Given the description of an element on the screen output the (x, y) to click on. 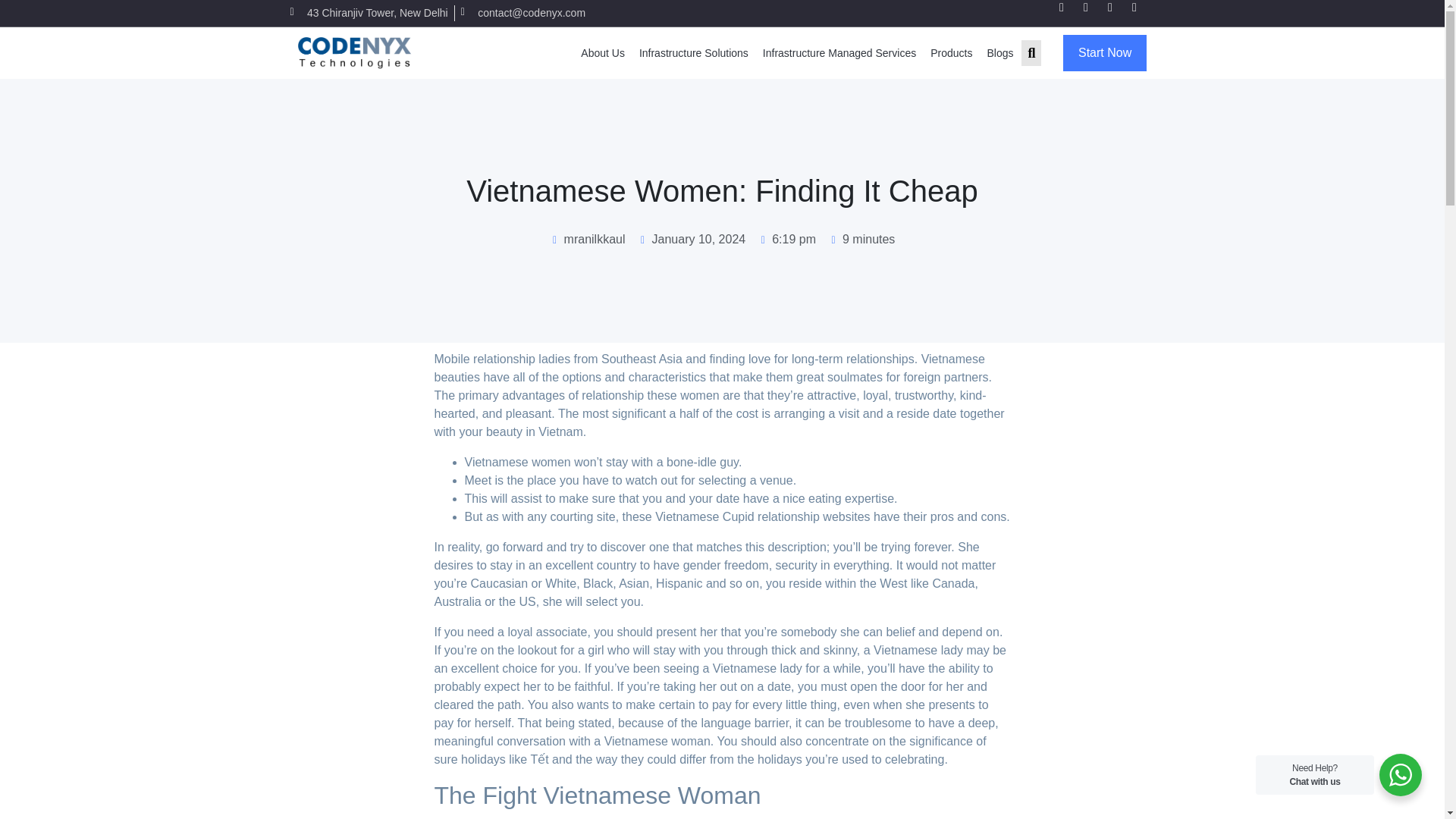
Infrastructure Managed Services (838, 52)
Infrastructure Solutions (693, 52)
Blogs (1000, 52)
About Us (602, 52)
Products (951, 52)
